Given the description of an element on the screen output the (x, y) to click on. 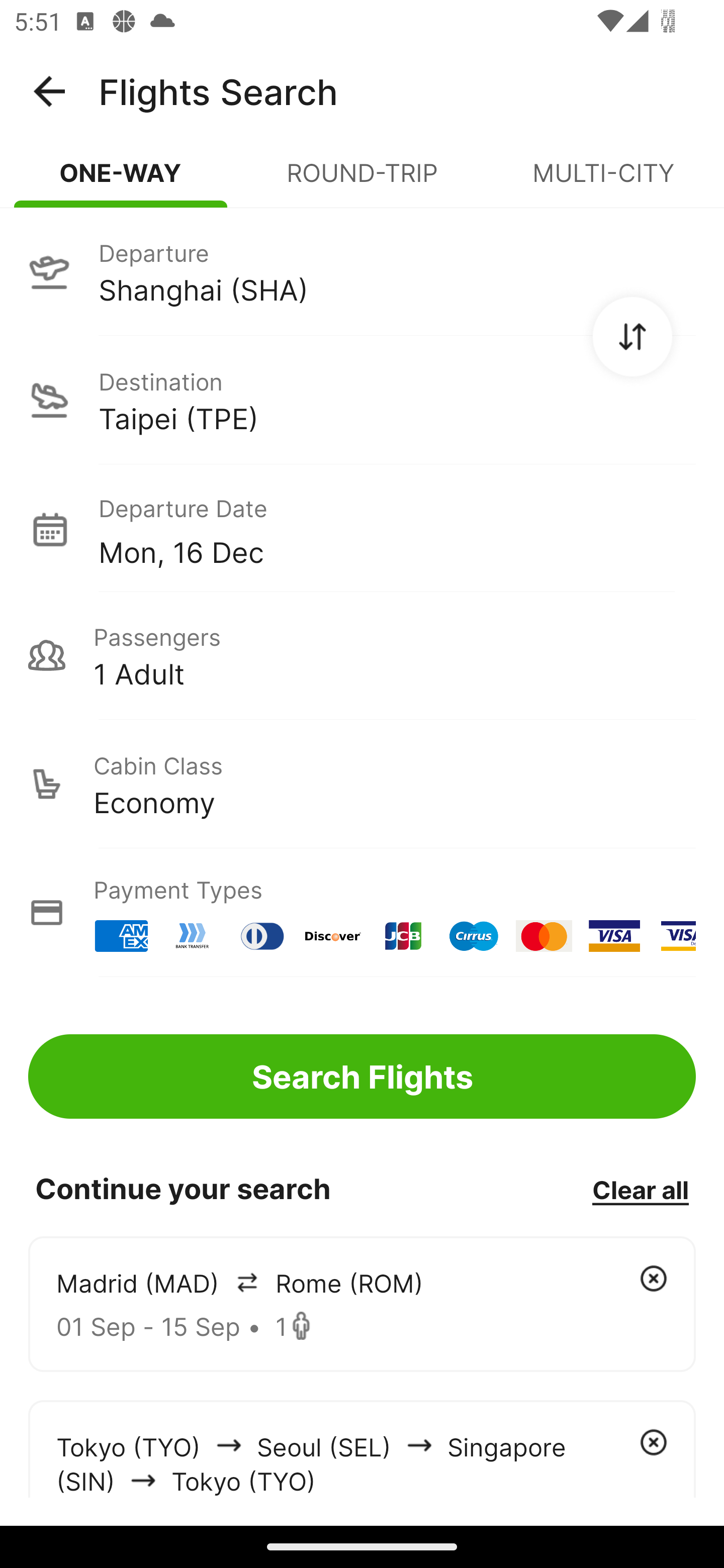
ONE-WAY (120, 180)
ROUND-TRIP (361, 180)
MULTI-CITY (603, 180)
Departure Shanghai (SHA) (362, 270)
Destination Taipei (TPE) (362, 400)
Departure Date Mon, 16 Dec (396, 528)
Passengers 1 Adult (362, 655)
Cabin Class Economy (362, 783)
Payment Types (362, 912)
Search Flights (361, 1075)
Clear all (640, 1189)
